Given the description of an element on the screen output the (x, y) to click on. 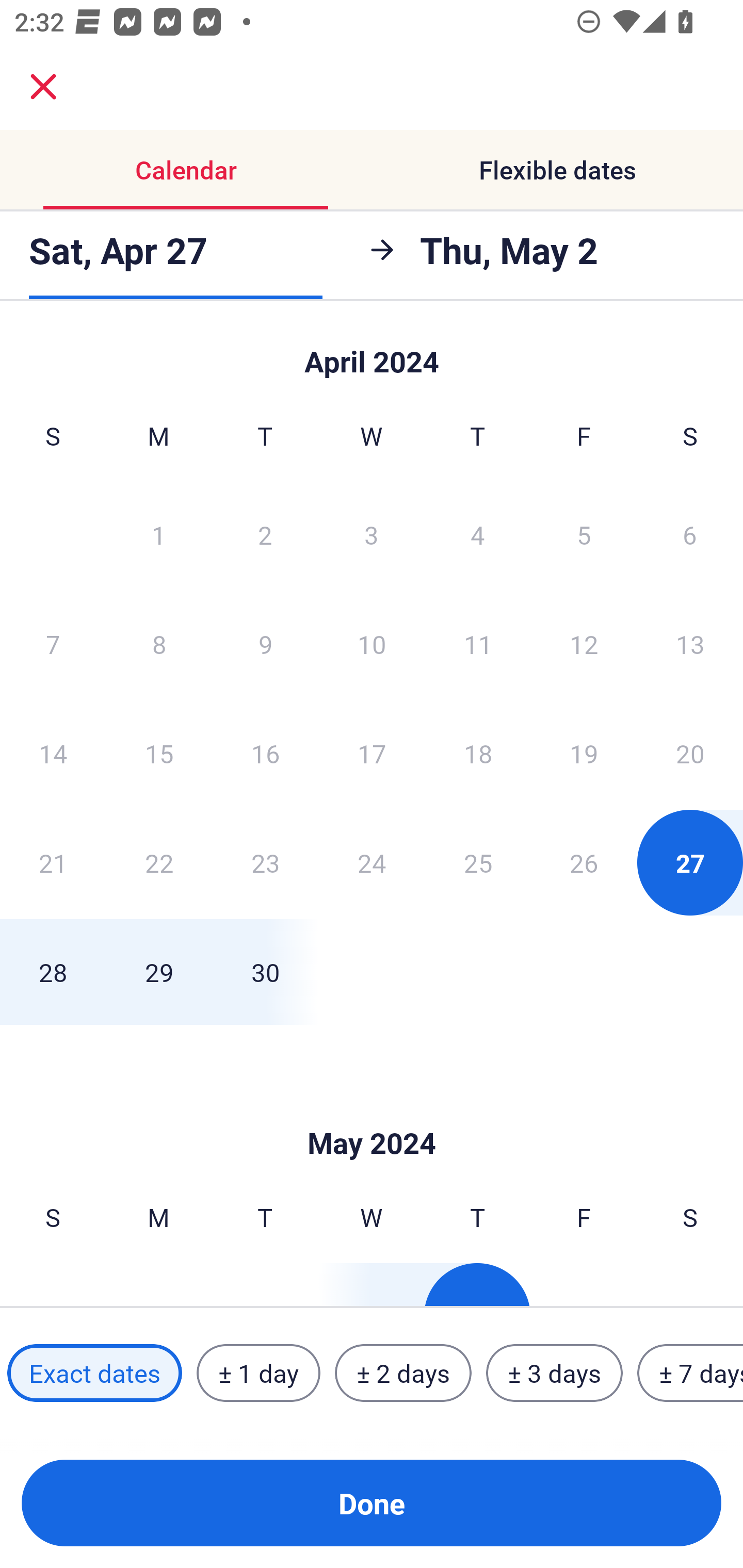
close. (43, 86)
Flexible dates (557, 170)
Skip to Done (371, 352)
1 Monday, April 1, 2024 (158, 534)
2 Tuesday, April 2, 2024 (264, 534)
3 Wednesday, April 3, 2024 (371, 534)
4 Thursday, April 4, 2024 (477, 534)
5 Friday, April 5, 2024 (583, 534)
6 Saturday, April 6, 2024 (689, 534)
7 Sunday, April 7, 2024 (53, 643)
8 Monday, April 8, 2024 (159, 643)
9 Tuesday, April 9, 2024 (265, 643)
10 Wednesday, April 10, 2024 (371, 643)
11 Thursday, April 11, 2024 (477, 643)
12 Friday, April 12, 2024 (584, 643)
13 Saturday, April 13, 2024 (690, 643)
14 Sunday, April 14, 2024 (53, 752)
15 Monday, April 15, 2024 (159, 752)
16 Tuesday, April 16, 2024 (265, 752)
17 Wednesday, April 17, 2024 (371, 752)
18 Thursday, April 18, 2024 (477, 752)
19 Friday, April 19, 2024 (584, 752)
20 Saturday, April 20, 2024 (690, 752)
21 Sunday, April 21, 2024 (53, 862)
22 Monday, April 22, 2024 (159, 862)
23 Tuesday, April 23, 2024 (265, 862)
24 Wednesday, April 24, 2024 (371, 862)
25 Thursday, April 25, 2024 (477, 862)
26 Friday, April 26, 2024 (584, 862)
Skip to Done (371, 1112)
Exact dates (94, 1372)
± 1 day (258, 1372)
± 2 days (403, 1372)
± 3 days (553, 1372)
± 7 days (690, 1372)
Done (371, 1502)
